Given the description of an element on the screen output the (x, y) to click on. 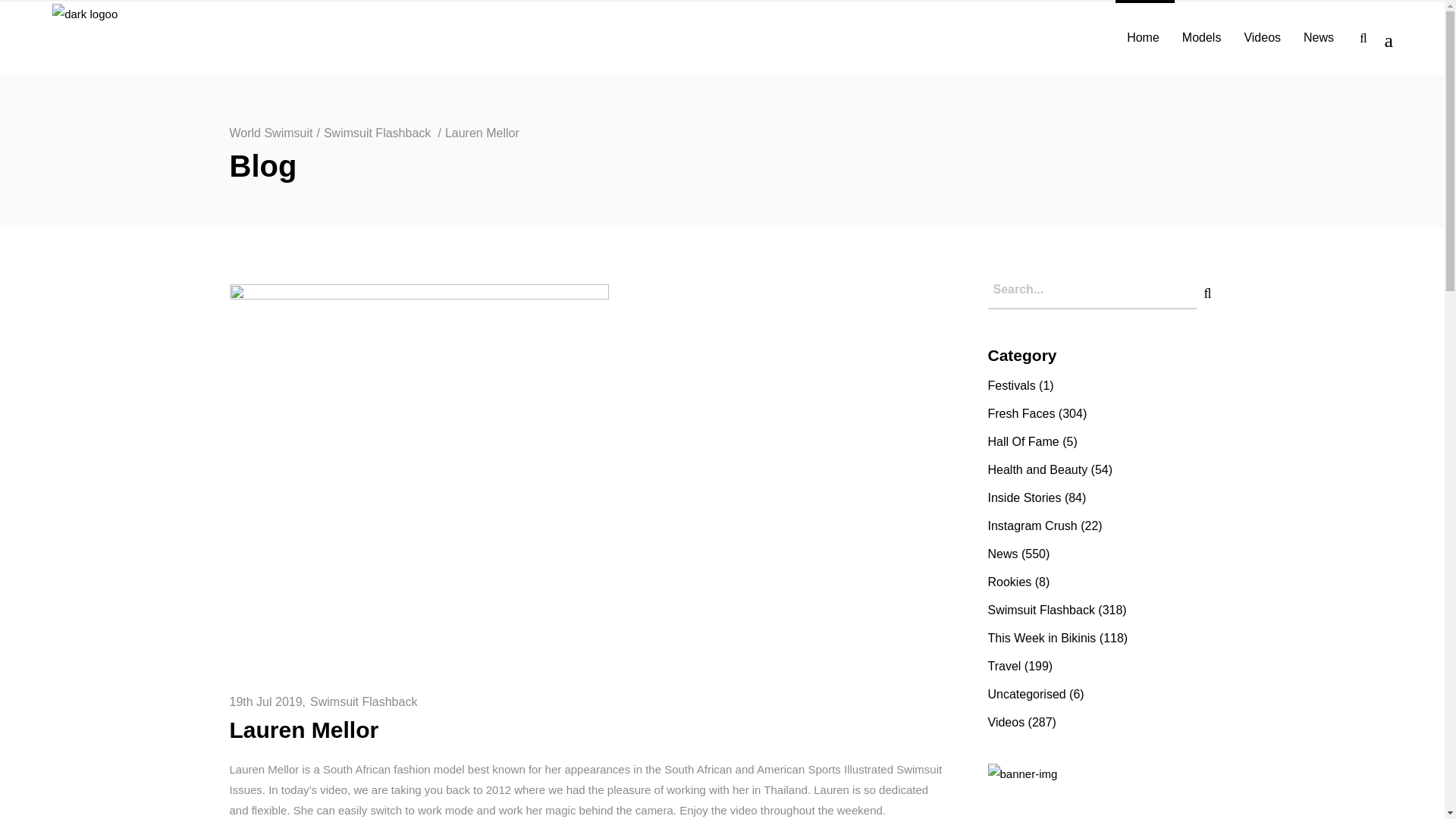
Swimsuit Flashback (363, 701)
Swimsuit Flashback (376, 133)
World Swimsuit (270, 133)
Festivals (1011, 385)
